Given the description of an element on the screen output the (x, y) to click on. 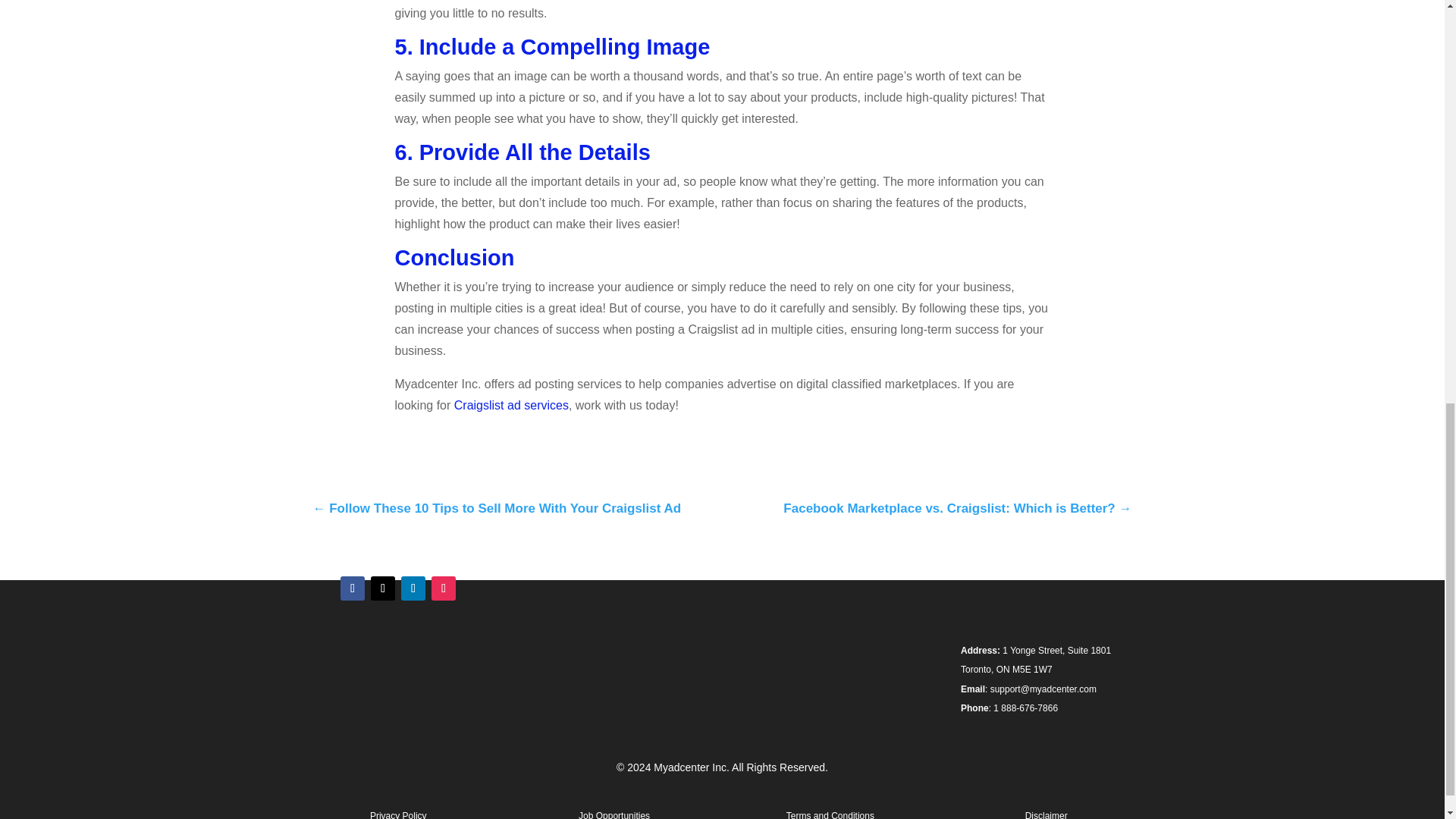
Follow on LinkedIn (413, 588)
Job Opportunities (613, 814)
Craigslist ad services (511, 404)
Follow on Facebook (352, 588)
Disclaimer (1046, 814)
Terms and Conditions (830, 814)
Follow on X (382, 588)
Privacy Policy (397, 814)
Follow on Instagram (442, 588)
